Given the description of an element on the screen output the (x, y) to click on. 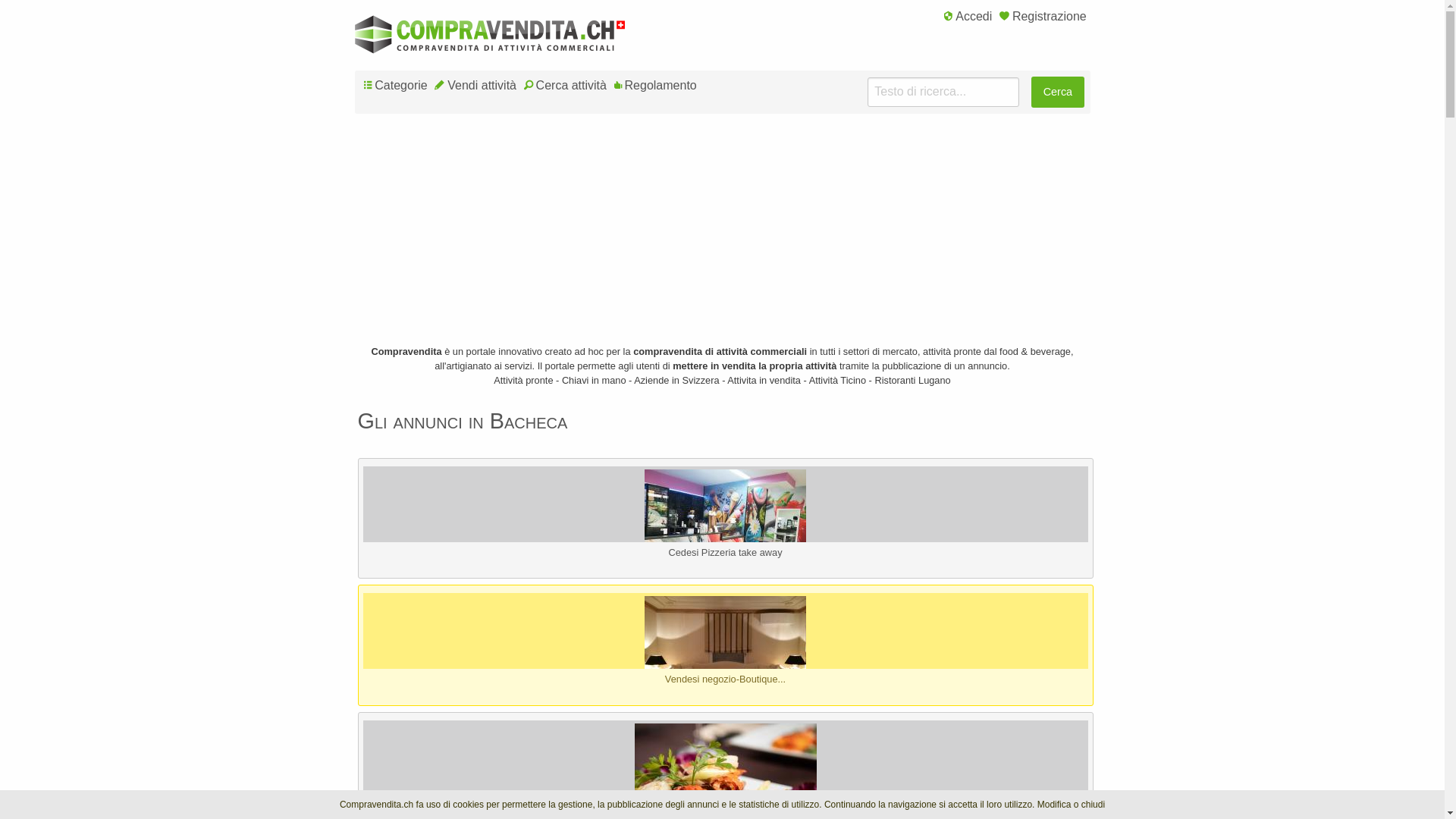
Categorie Element type: text (395, 86)
Vendesi negozio-Boutique... Element type: text (725, 678)
Vendesi negozio-Boutique... Element type: hover (725, 656)
Registrazione Element type: text (1042, 17)
chiudi Element type: text (1092, 804)
Cedesi Pizzeria take away Element type: hover (725, 528)
Cedesi Pizzeria take away Element type: text (724, 552)
Modifica Element type: text (1054, 804)
Regolamento Element type: text (655, 86)
Cerca Element type: text (1057, 91)
Cedesi Pizzeria take away Element type: hover (725, 529)
Vendesi negozio-Boutique... Element type: hover (725, 655)
Accedi Element type: text (967, 17)
Advertisement Element type: hover (722, 237)
